Given the description of an element on the screen output the (x, y) to click on. 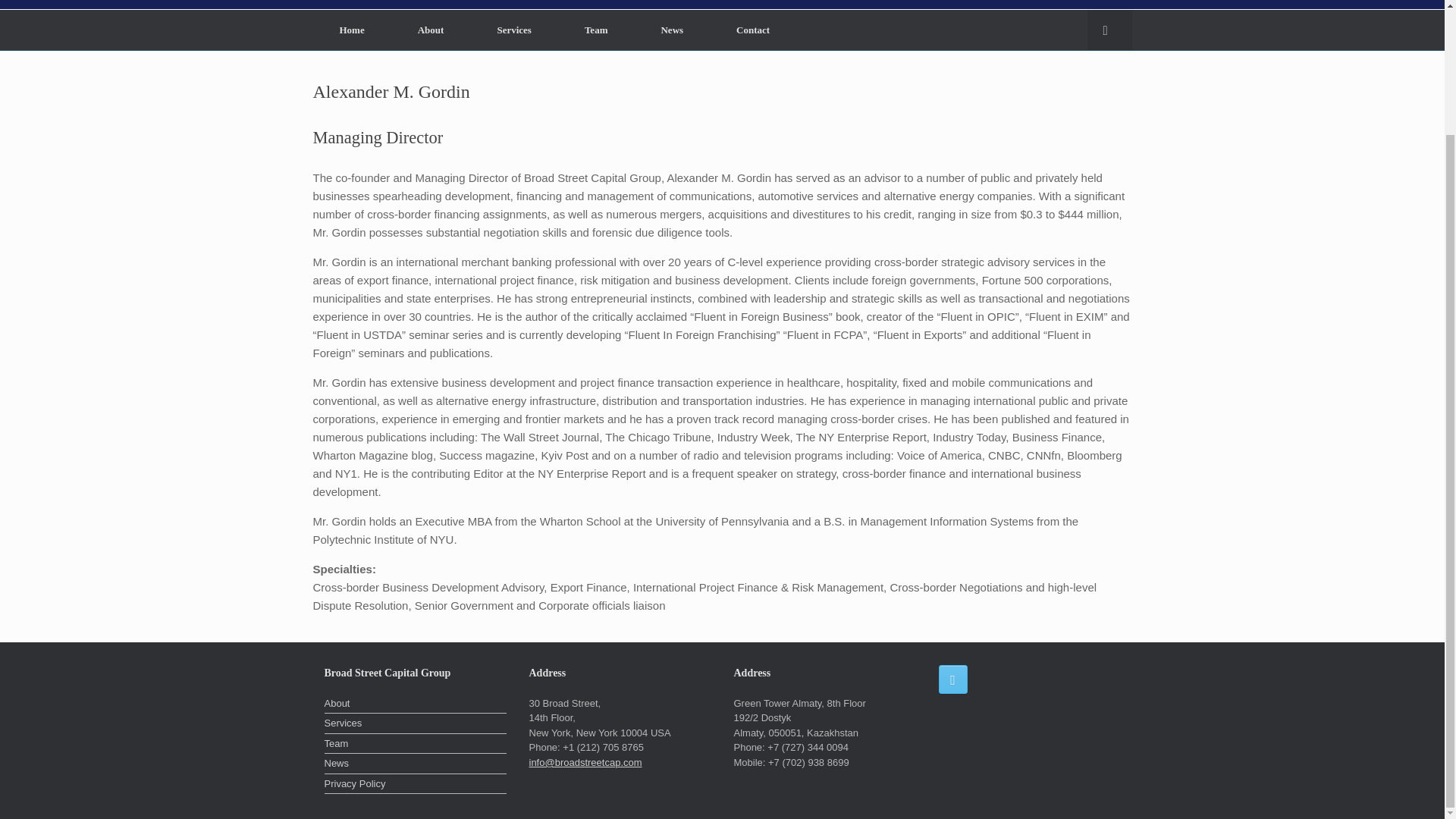
Privacy Policy (415, 785)
News (415, 764)
Contact (753, 29)
Home (351, 29)
Team (415, 745)
Services (415, 724)
Team (595, 29)
News (671, 29)
Services (513, 29)
Broad Street Capital Group Twitter (953, 679)
